Given the description of an element on the screen output the (x, y) to click on. 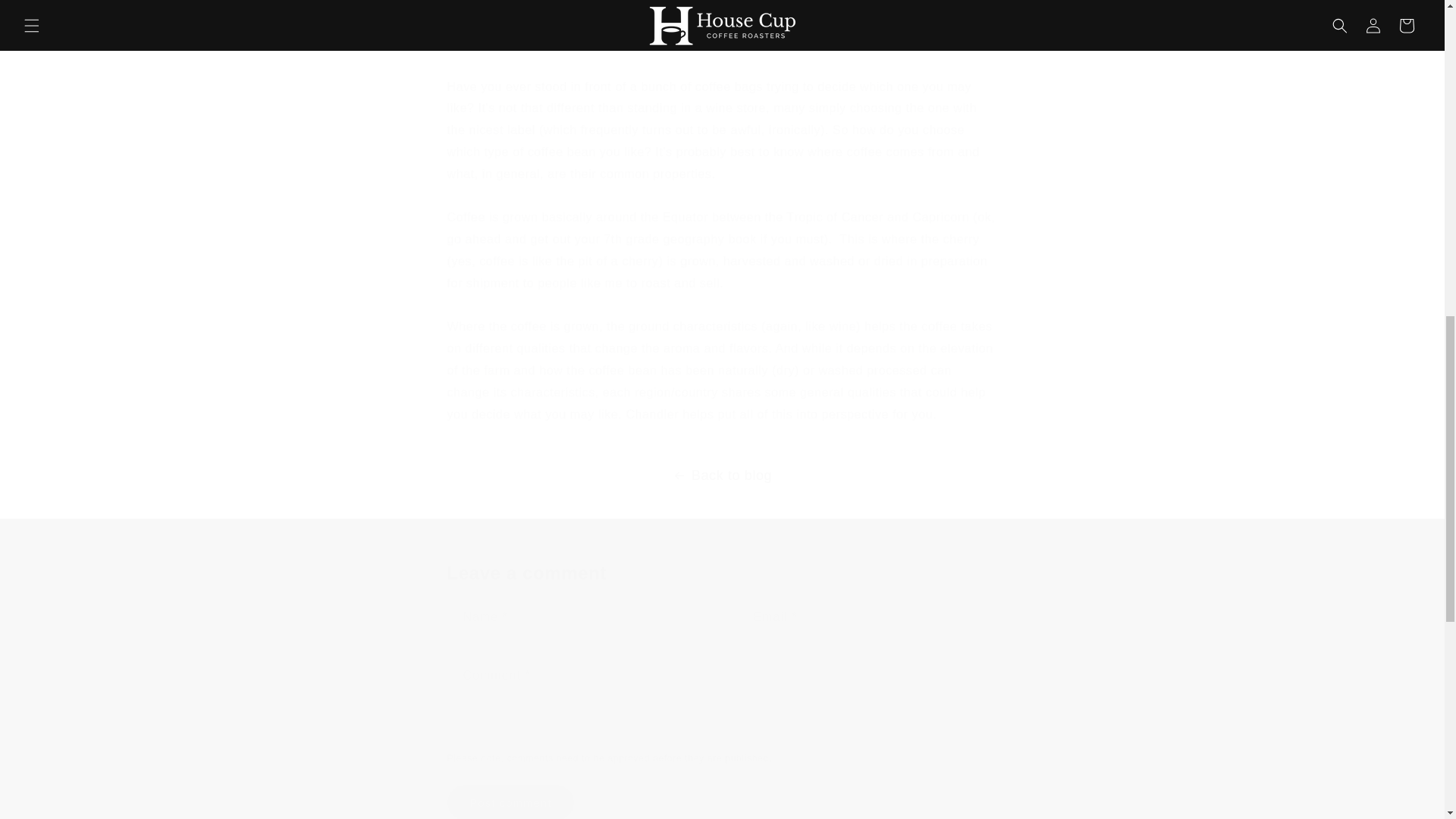
TedX video (726, 20)
Post comment (510, 801)
Post comment (510, 801)
